Given the description of an element on the screen output the (x, y) to click on. 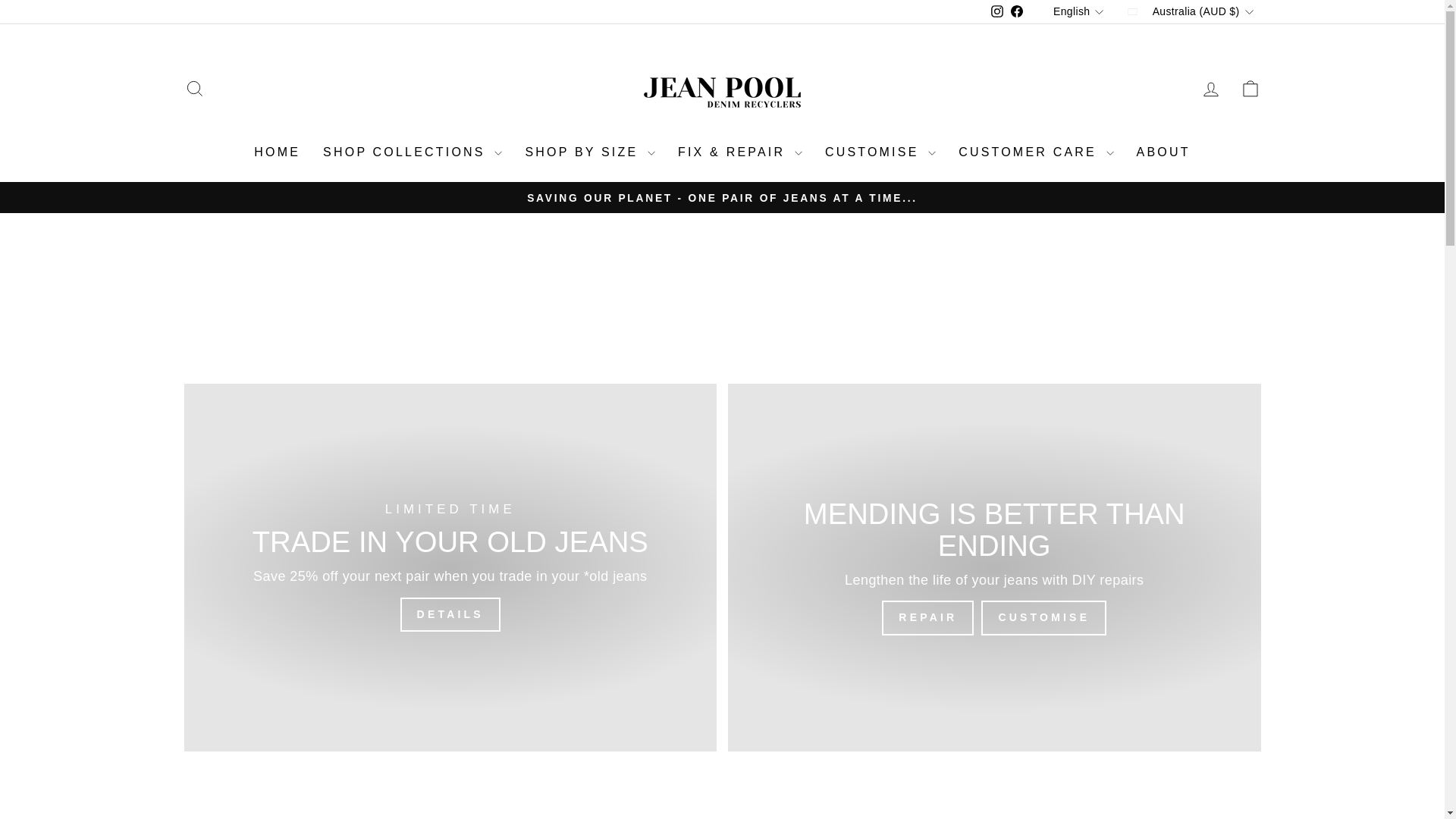
ICON-SEARCH (194, 88)
ICON-BAG-MINIMAL (1249, 88)
ACCOUNT (1210, 88)
instagram (997, 10)
